Given the description of an element on the screen output the (x, y) to click on. 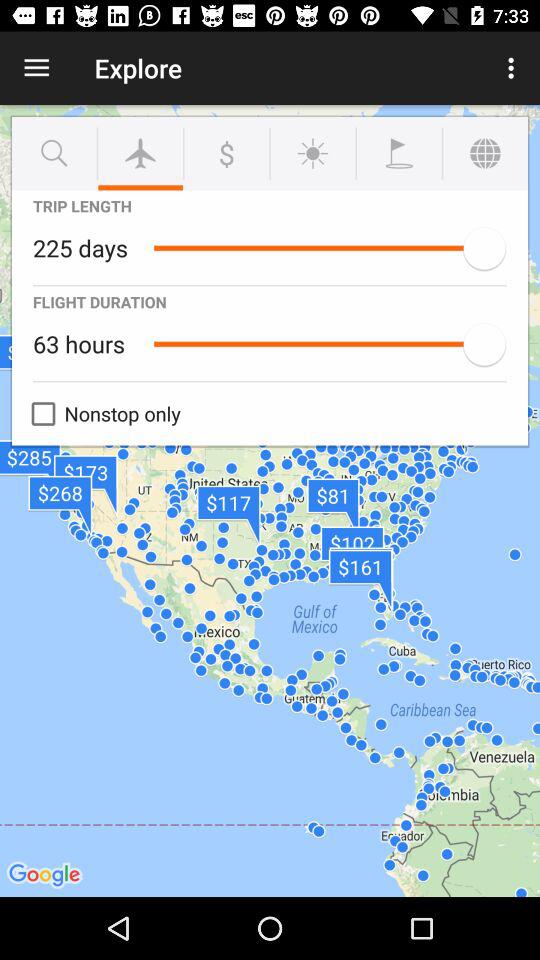
turn off icon next to the explore item (36, 68)
